Given the description of an element on the screen output the (x, y) to click on. 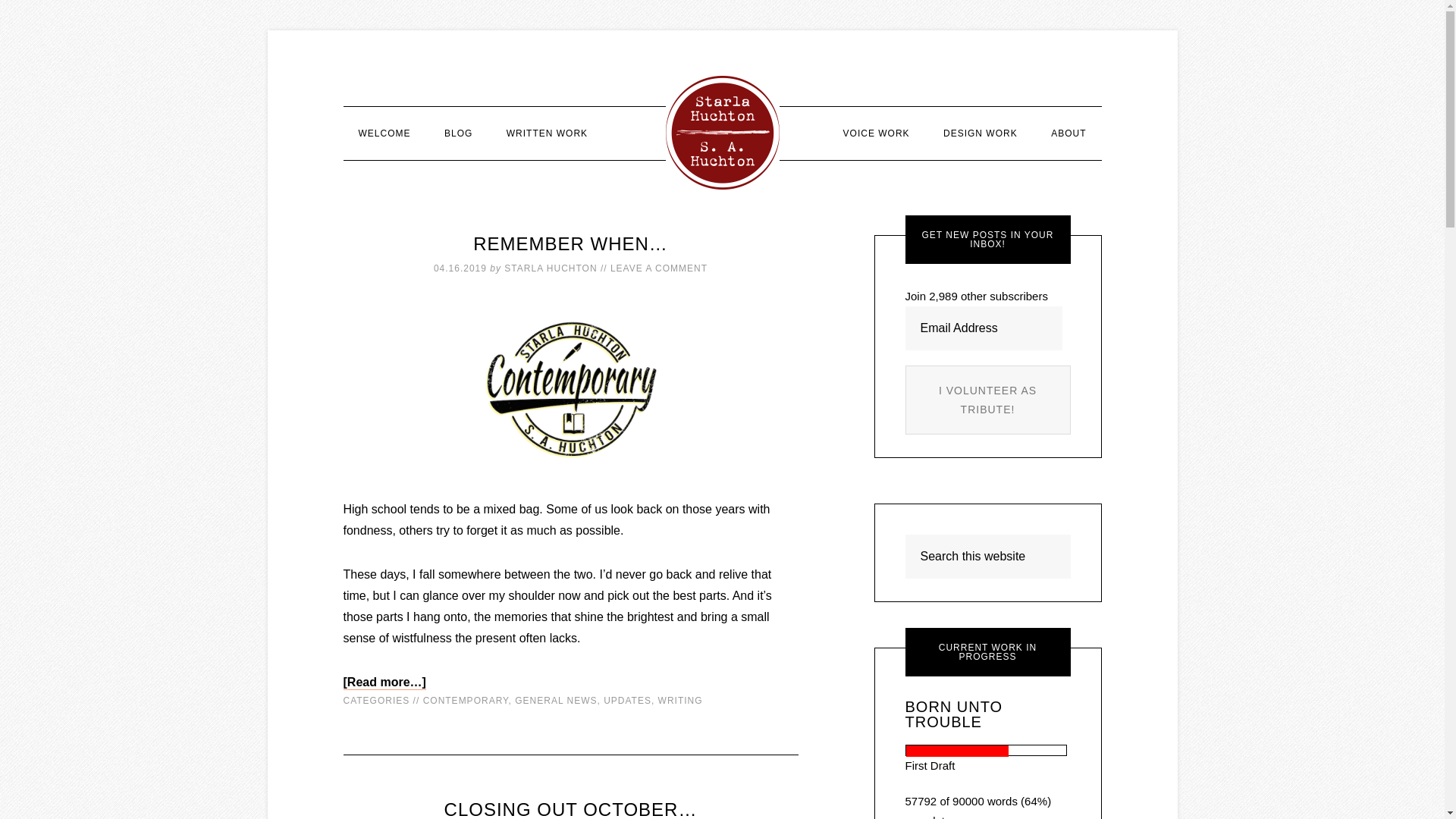
WELCOME (383, 133)
VOICE WORK (876, 133)
LEAVE A COMMENT (658, 267)
WRITTEN WORK (547, 133)
BLOG (458, 133)
STARLA HUCHTON (549, 267)
UPDATES (627, 700)
DESIGN WORK (980, 133)
UPON THE WINGS OF GREATER THINGS (721, 132)
GENERAL NEWS (555, 700)
WRITING (680, 700)
ABOUT (1067, 133)
CONTEMPORARY (465, 700)
